Given the description of an element on the screen output the (x, y) to click on. 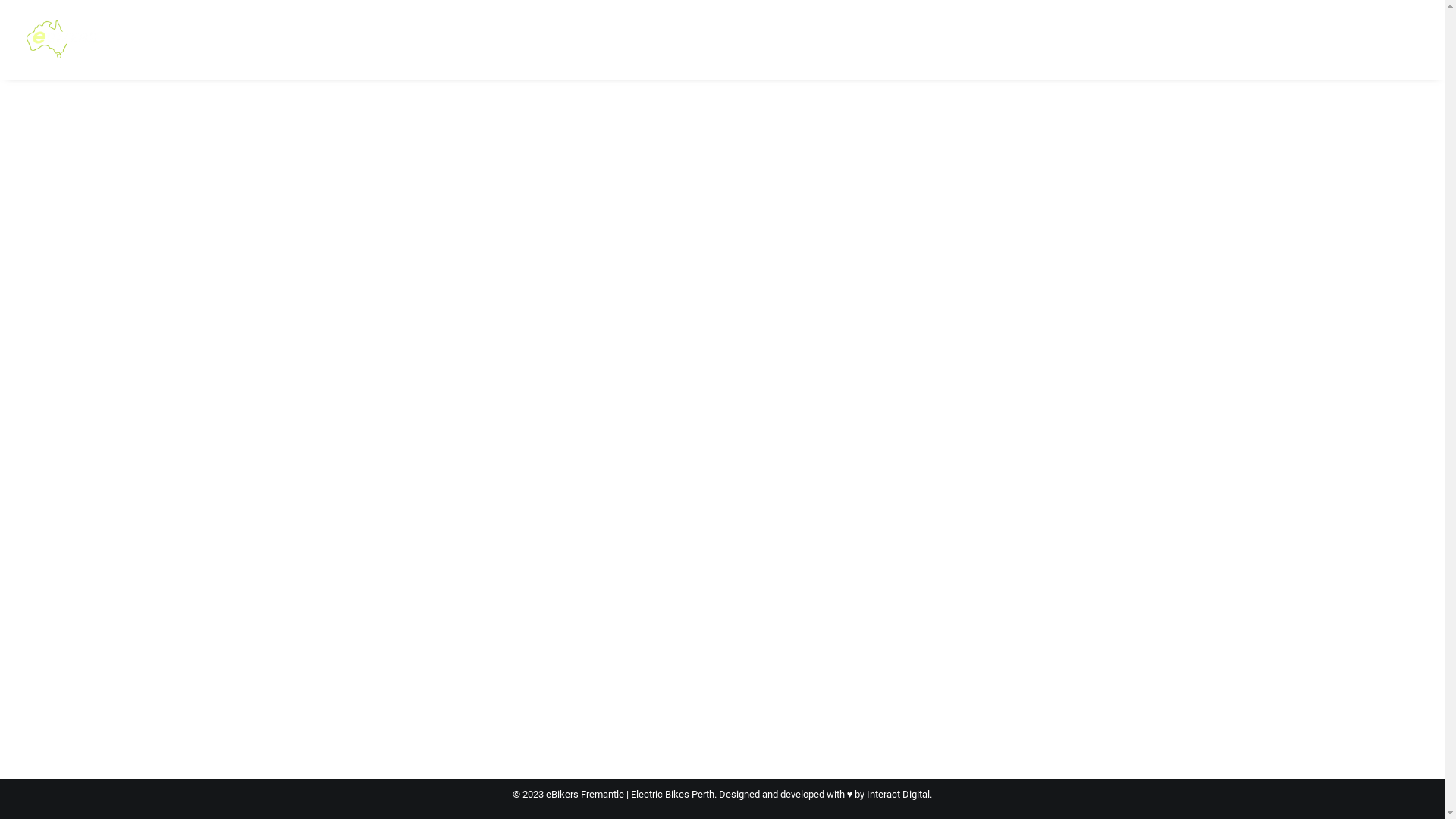
HOME Element type: text (588, 39)
SHOP Element type: text (1133, 39)
cart Element type: hover (1407, 39)
TRIKES & QUADS Element type: text (775, 39)
PRO E-MTB Element type: text (870, 39)
Interact Digital. Element type: text (898, 794)
SERVICE Element type: text (1073, 39)
ELECTRIC BIKES Element type: text (667, 39)
OUR STORY Element type: text (953, 39)
CONTACT Element type: text (1218, 39)
FAQ Element type: text (1017, 39)
